Given the description of an element on the screen output the (x, y) to click on. 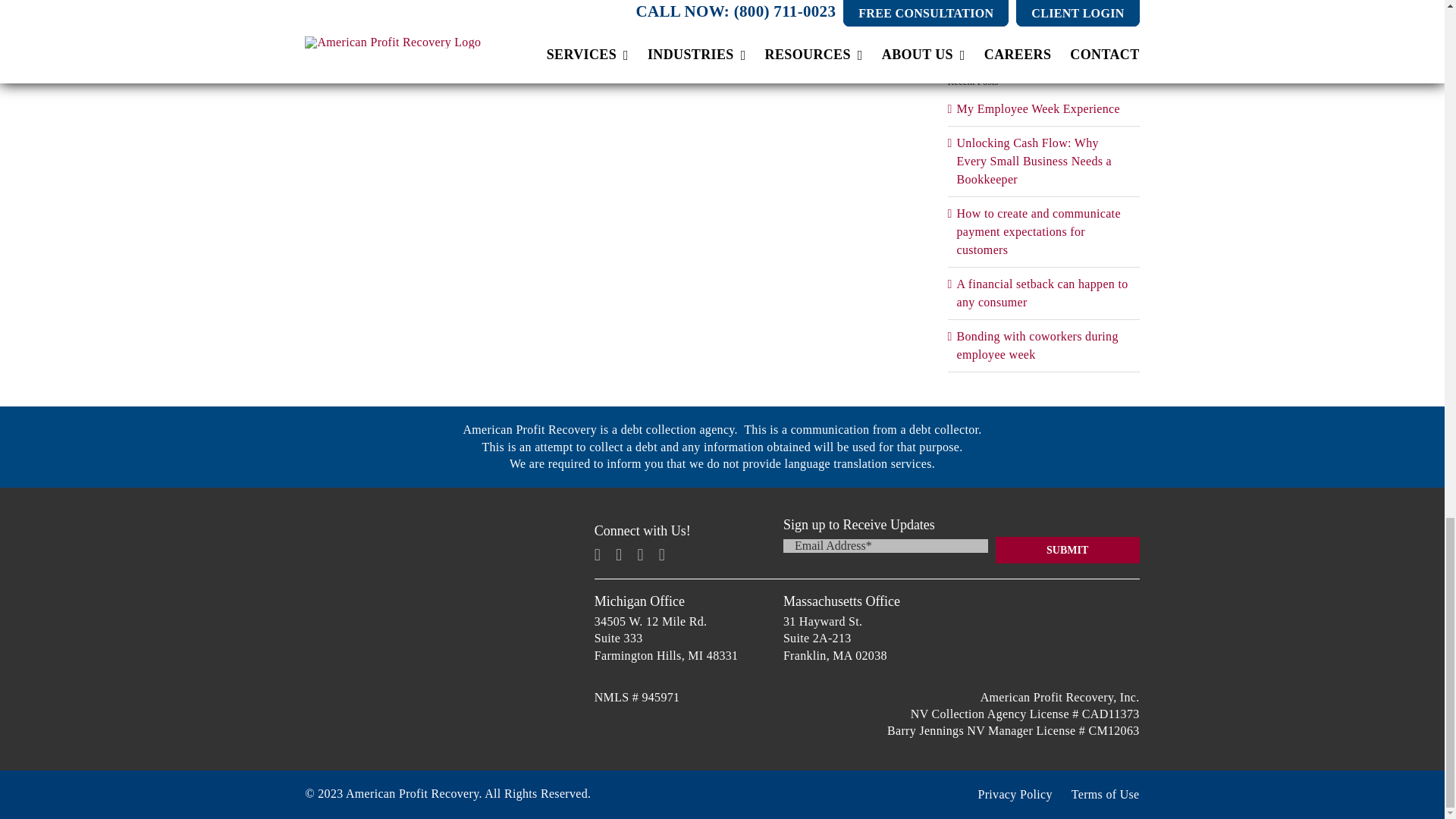
Submit (1067, 550)
logo-apr-gray (432, 636)
